Given the description of an element on the screen output the (x, y) to click on. 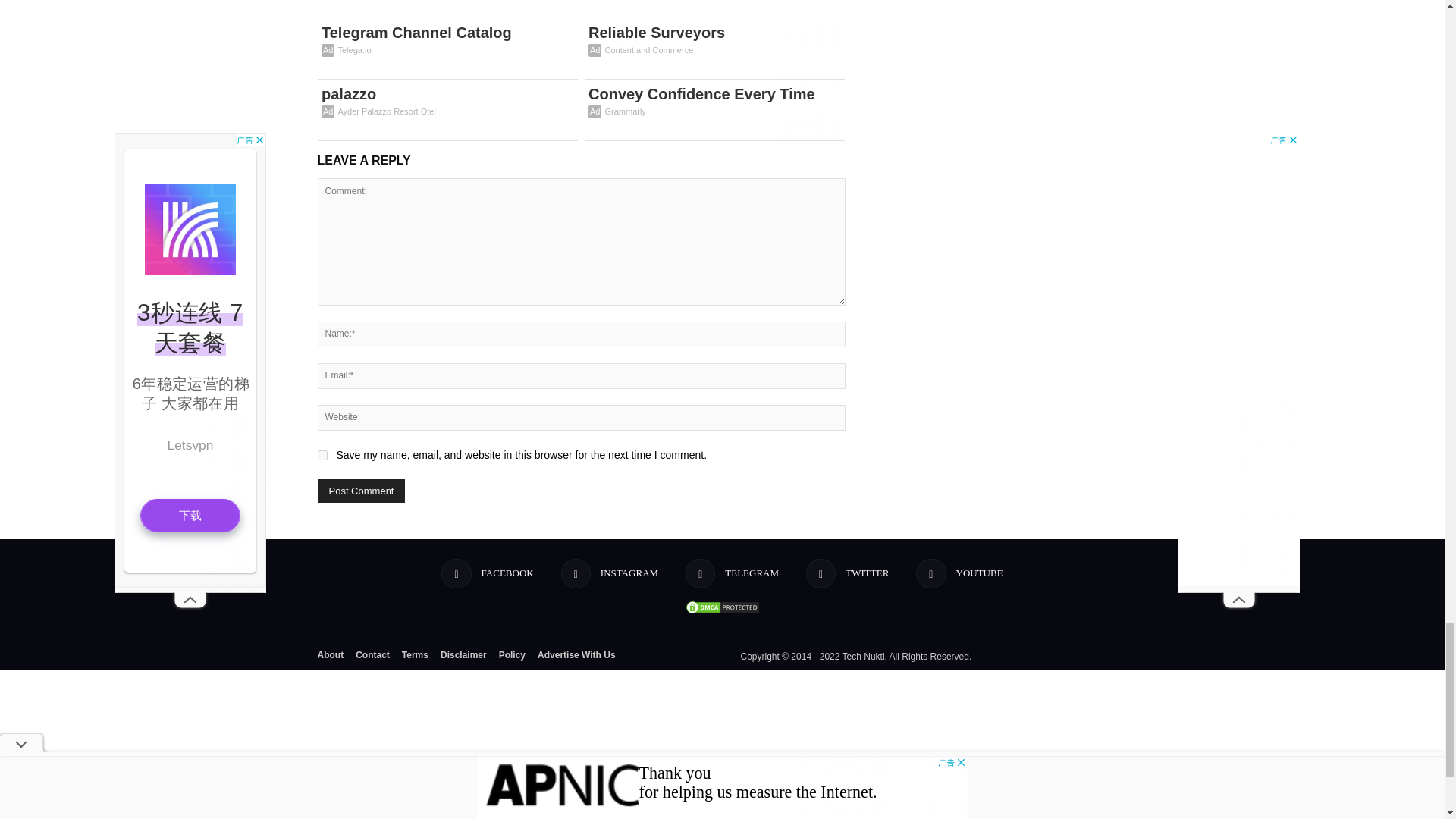
Post Comment (360, 490)
yes (321, 455)
